Given the description of an element on the screen output the (x, y) to click on. 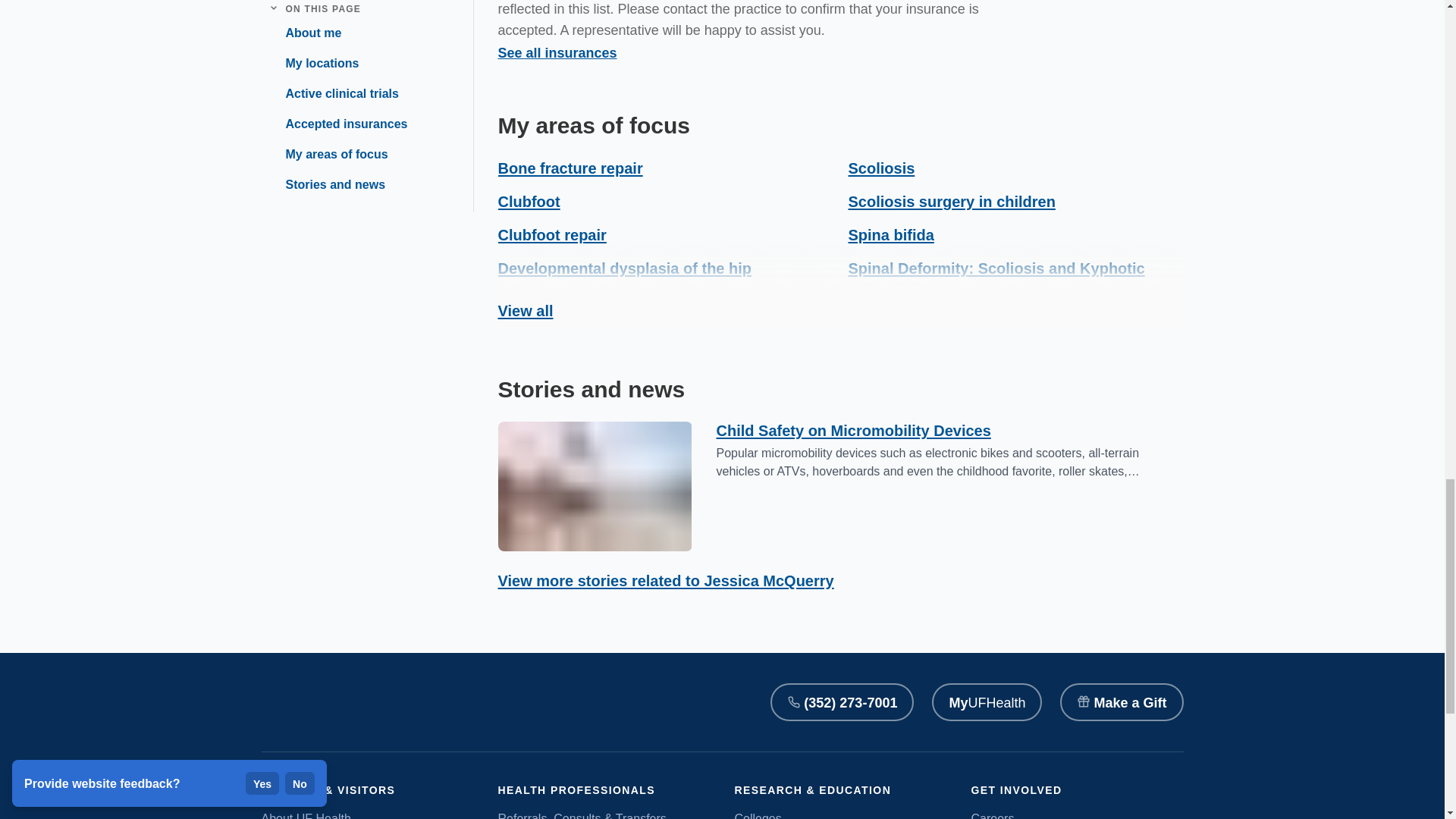
Clubfoot repair (551, 234)
Scoliosis surgery in children (950, 201)
Bone fracture repair (569, 167)
Clubfoot (528, 201)
Scoliosis (880, 167)
Elbow pain (537, 301)
See all insurances (556, 52)
Developmental dysplasia of the hip (624, 268)
